Given the description of an element on the screen output the (x, y) to click on. 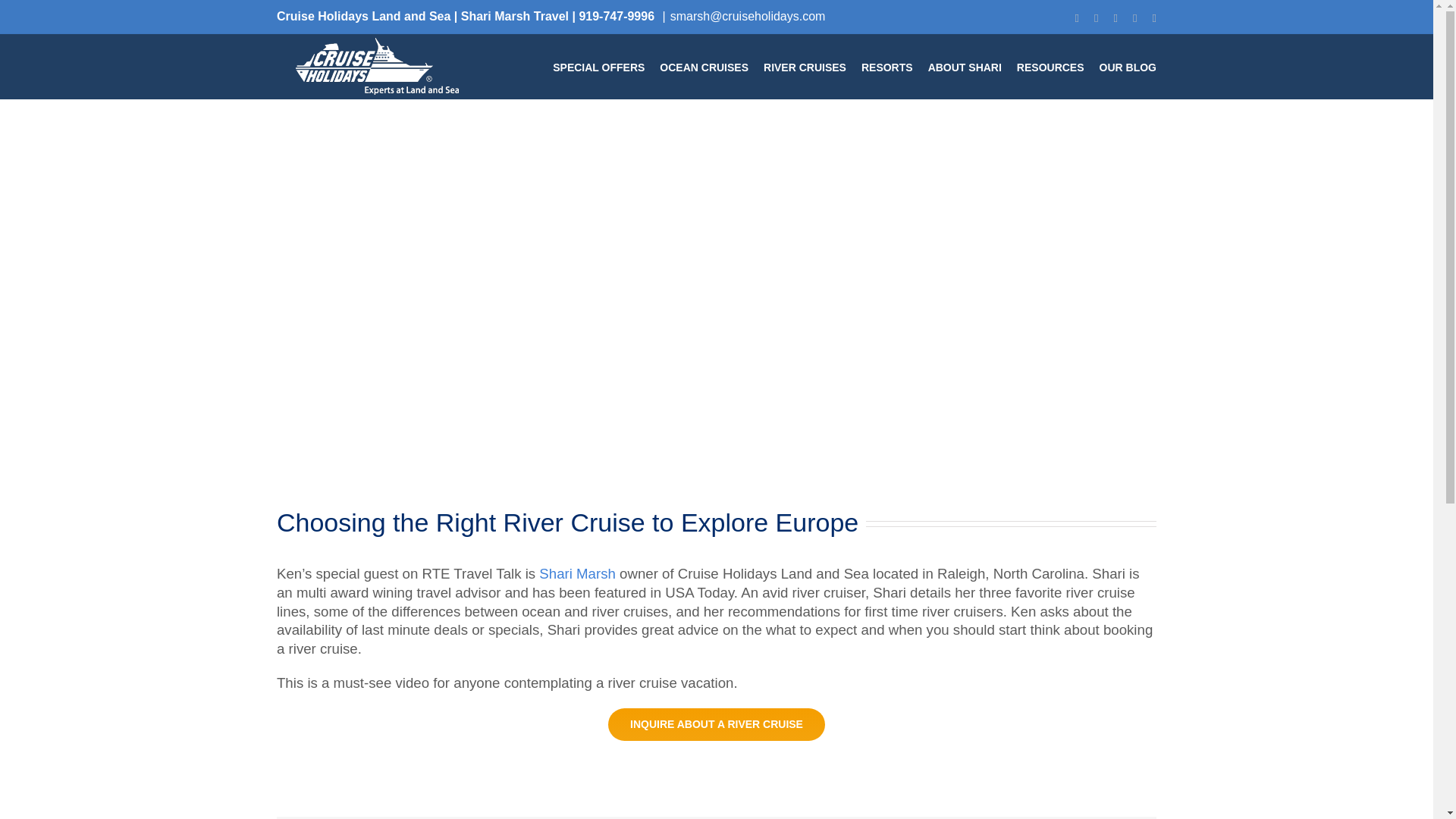
OUR BLOG (1127, 65)
OCEAN CRUISES (703, 65)
RIVER CRUISES (803, 65)
SPECIAL OFFERS (599, 65)
RESOURCES (1050, 65)
ABOUT SHARI (964, 65)
